Given the description of an element on the screen output the (x, y) to click on. 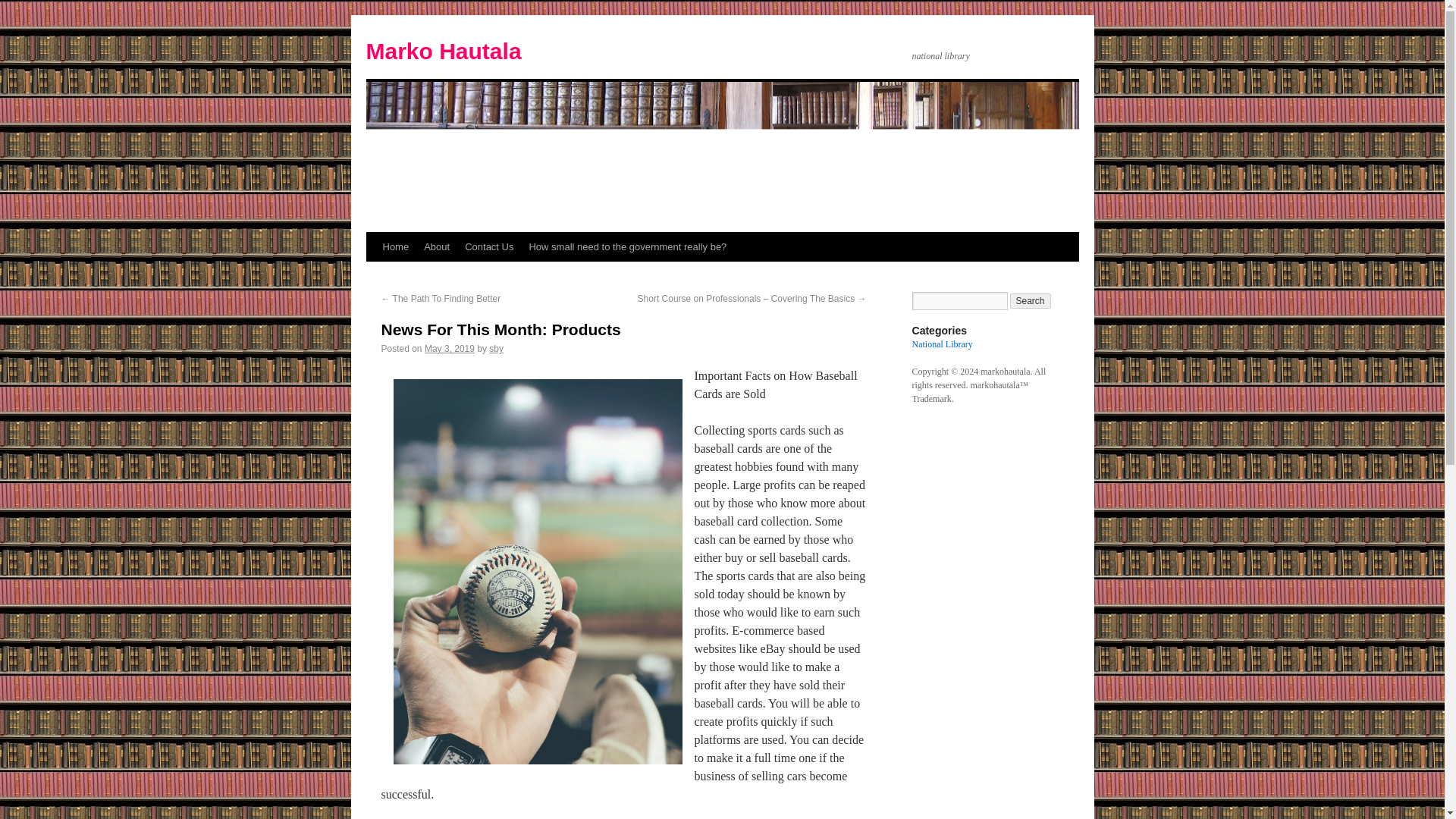
Marko Hautala (443, 50)
National Library (941, 344)
4:50 am (449, 348)
View all posts by sby (496, 348)
Search (1030, 300)
May 3, 2019 (449, 348)
How small need to the government really be? (627, 246)
View all posts filed under National Library (941, 344)
Search (1030, 300)
Contact Us (489, 246)
